Given the description of an element on the screen output the (x, y) to click on. 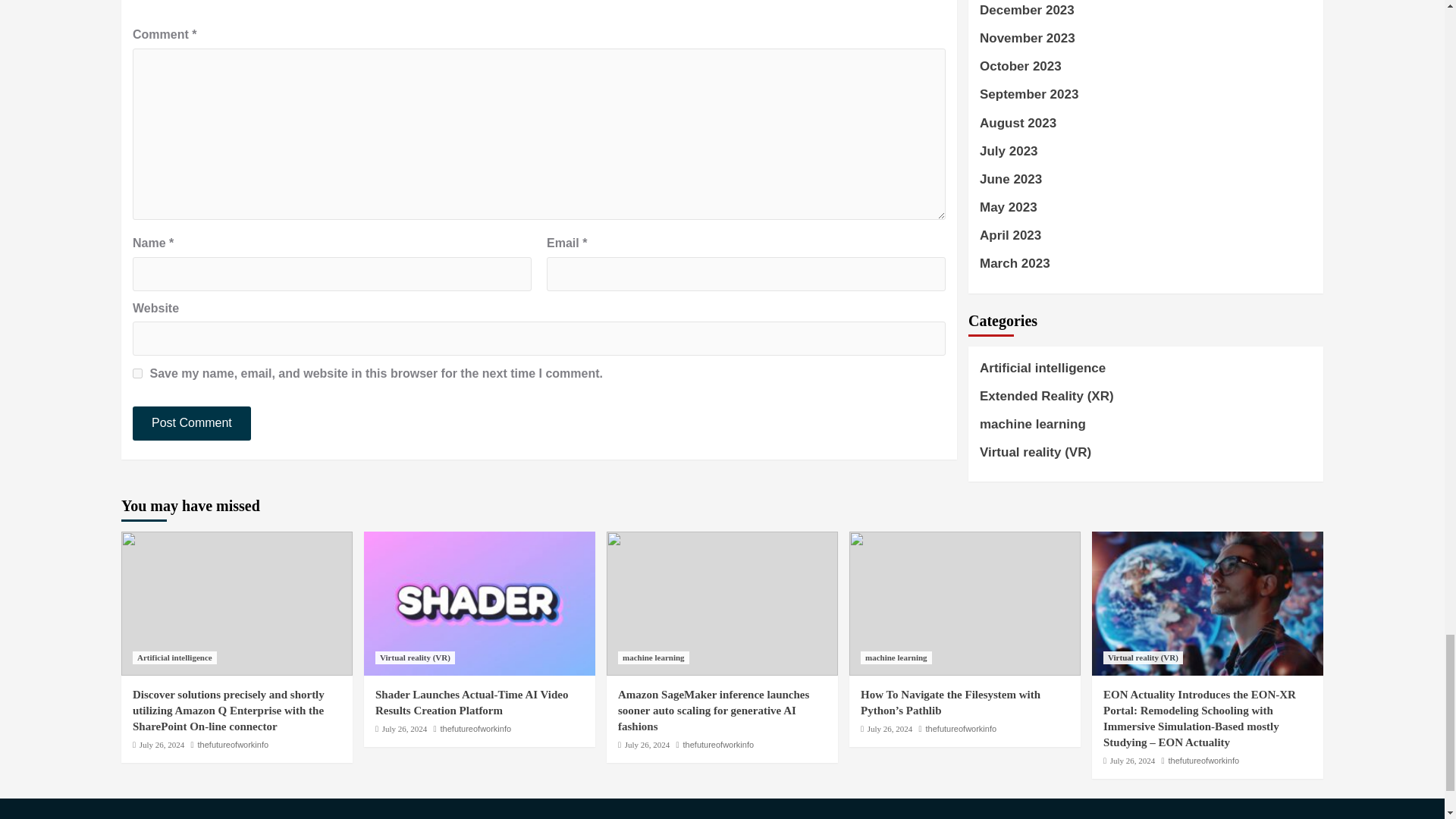
yes (137, 373)
Post Comment (191, 423)
